Given the description of an element on the screen output the (x, y) to click on. 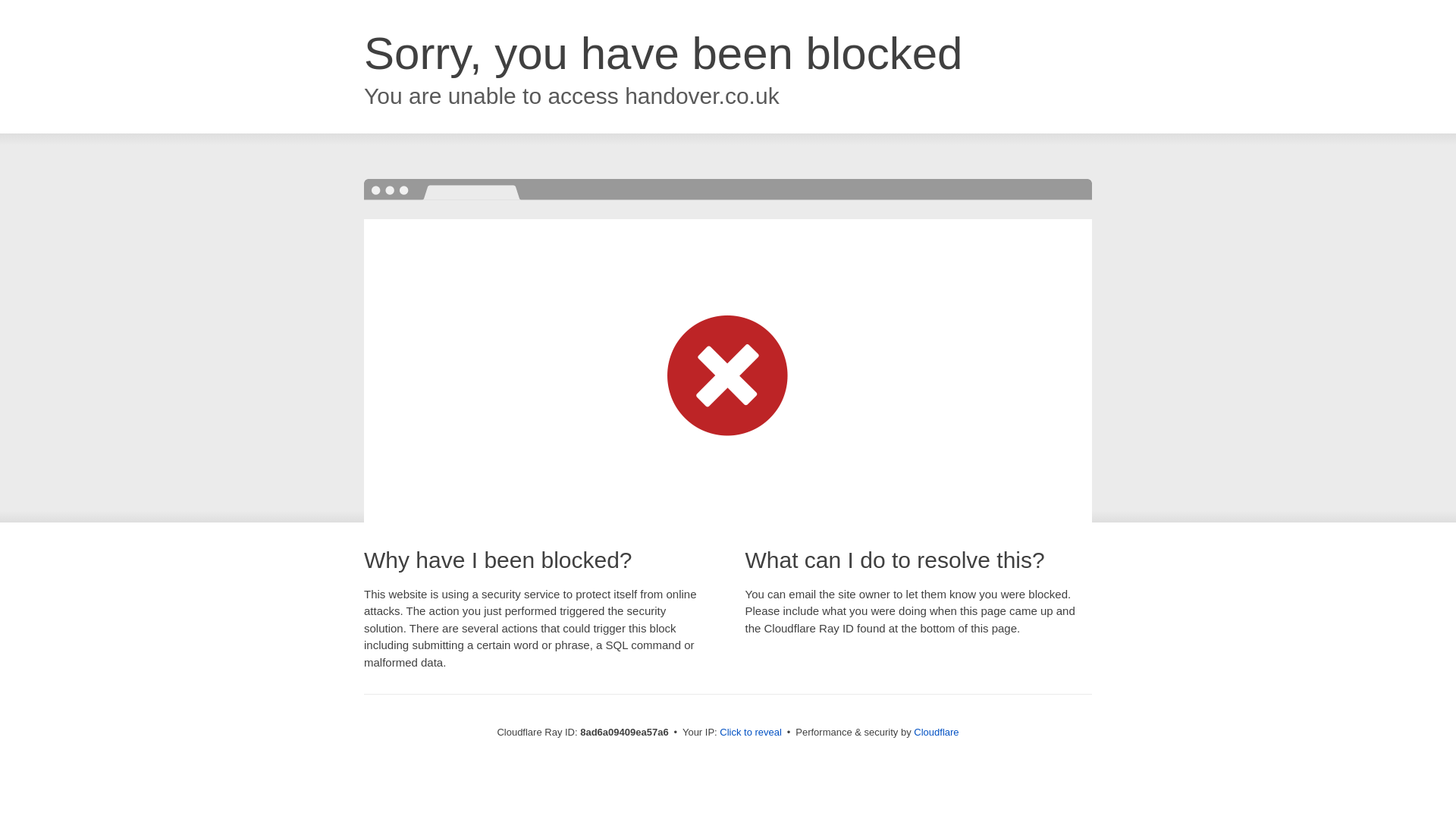
Cloudflare (936, 731)
Click to reveal (750, 732)
